Given the description of an element on the screen output the (x, y) to click on. 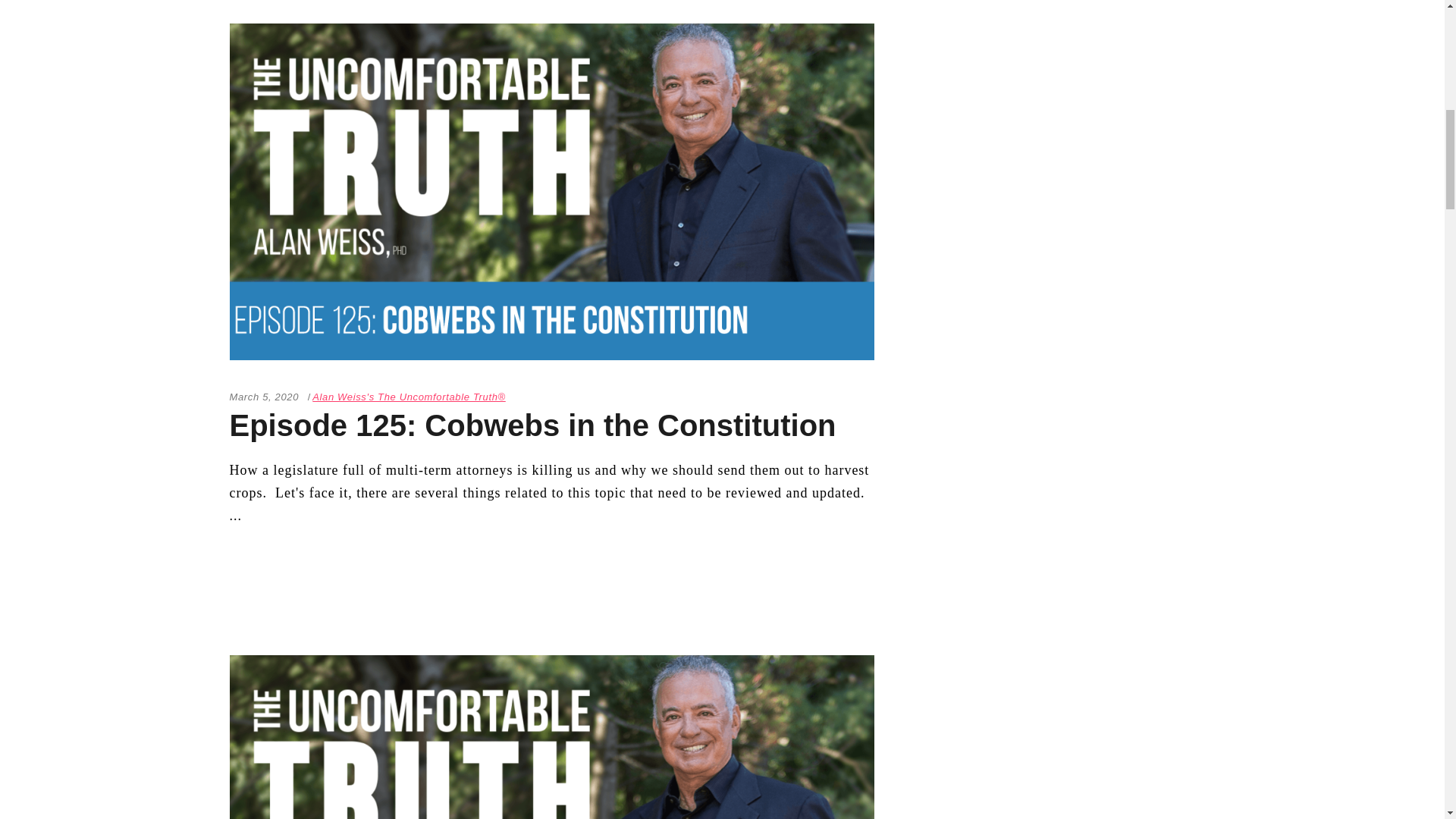
Episode 125: Cobwebs in the Constitution (531, 425)
Episode 124: Unassertiveness (550, 737)
